Given the description of an element on the screen output the (x, y) to click on. 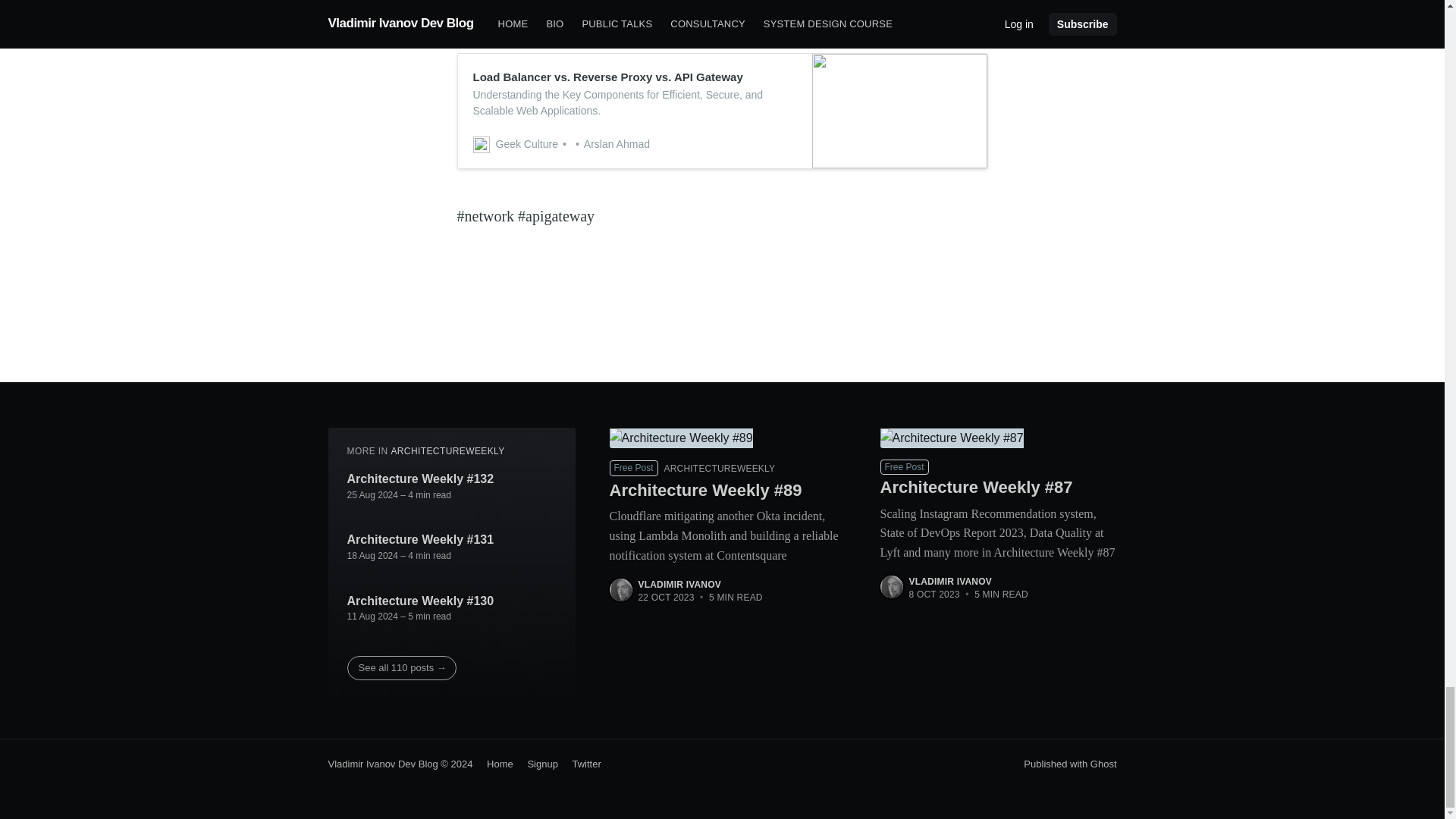
Vladimir Ivanov Dev Blog (382, 763)
ARCHITECTUREWEEKLY (446, 450)
VLADIMIR IVANOV (949, 581)
Home (494, 763)
VLADIMIR IVANOV (679, 584)
